Given the description of an element on the screen output the (x, y) to click on. 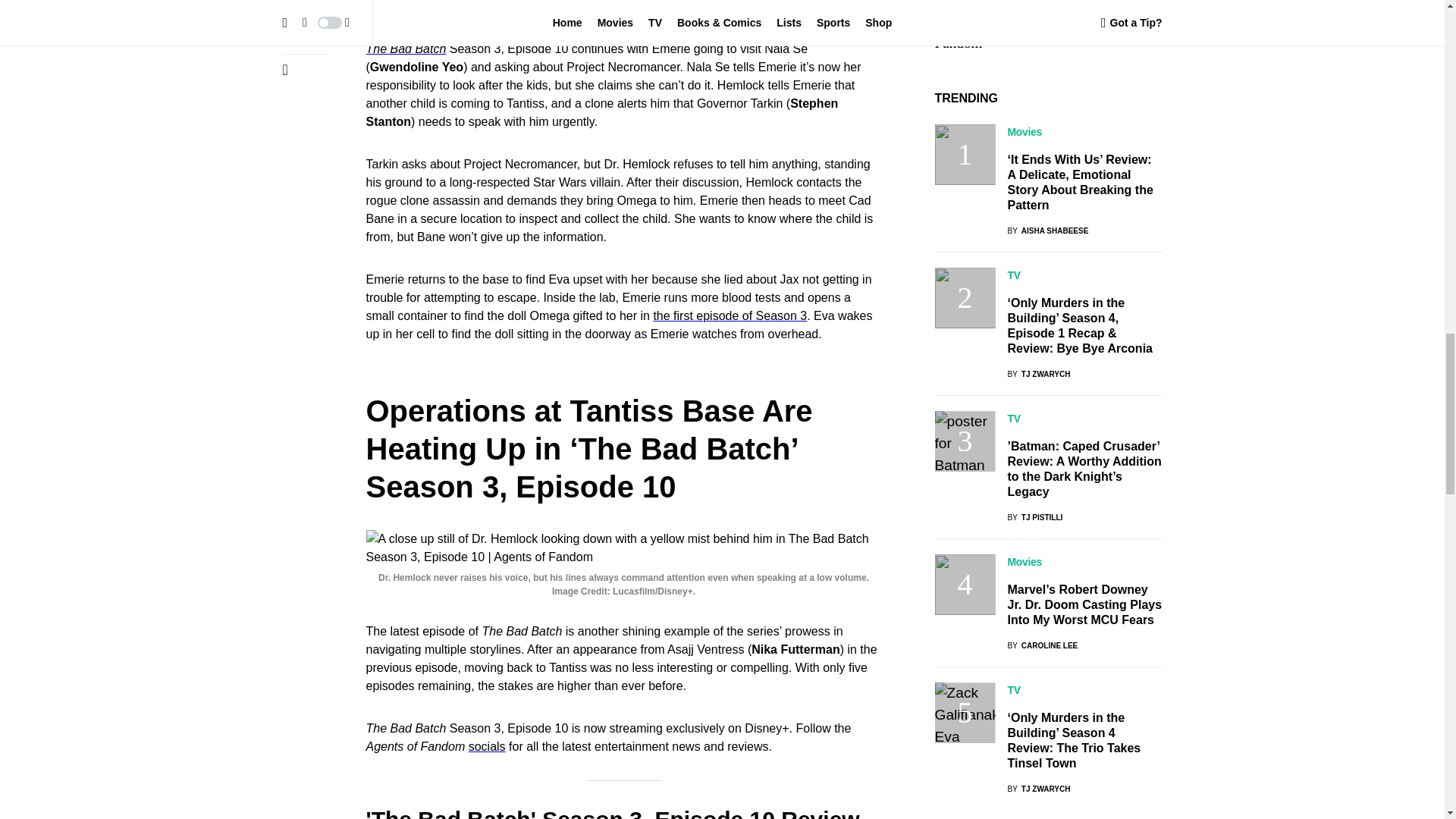
View all posts by TJ Pistilli (1034, 103)
View all posts by Caroline Lee (1042, 232)
View all posts by TJ Zwarych (1038, 375)
